Given the description of an element on the screen output the (x, y) to click on. 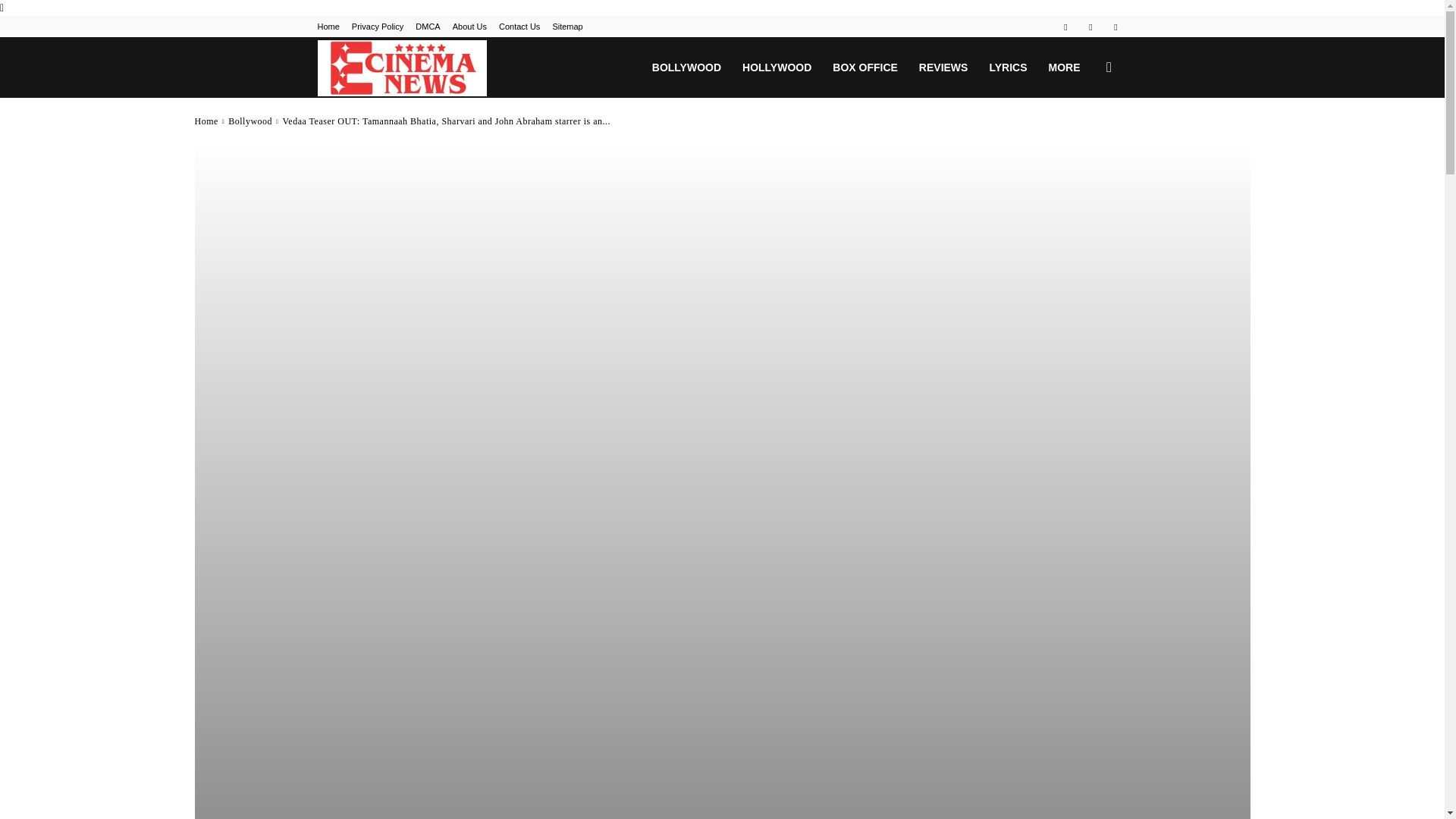
Contact Us (519, 26)
DMCA (426, 26)
View all posts in Bollywood (250, 121)
About Us (469, 26)
BOX OFFICE (865, 66)
Pinterest (1090, 25)
Twitter (1114, 25)
ECinema News (401, 67)
Facebook (1065, 25)
BOLLYWOOD (687, 66)
LYRICS (1007, 66)
REVIEWS (943, 66)
Home (328, 26)
Search (1085, 139)
Privacy Policy (377, 26)
